Given the description of an element on the screen output the (x, y) to click on. 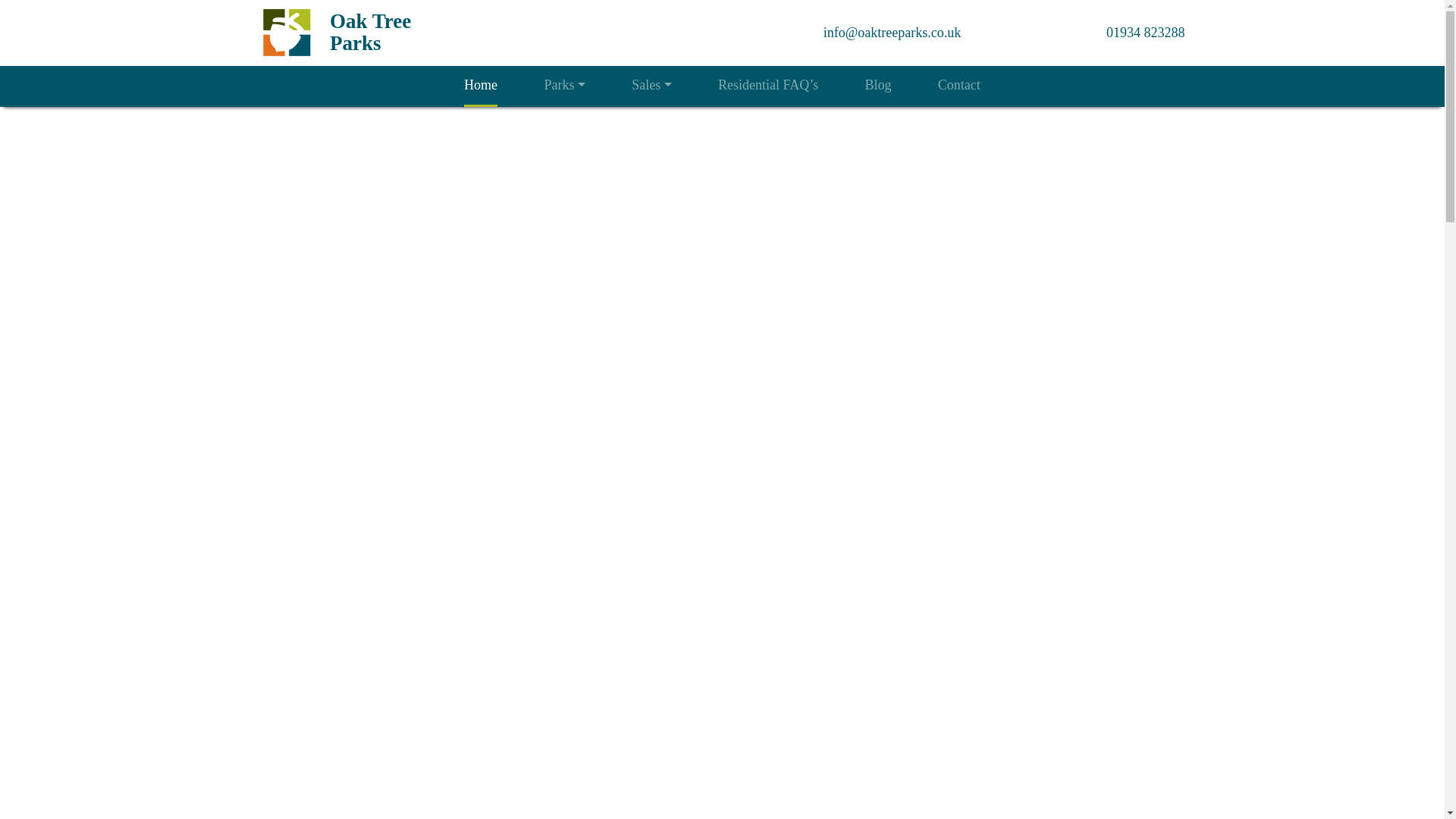
Home (480, 85)
Parks (564, 85)
Contact (958, 85)
Sales (651, 85)
Contact (958, 85)
Blog (877, 85)
Sales (651, 85)
Blog (877, 85)
Oak Tree Parks (370, 31)
01934 823288 (1145, 32)
